Given the description of an element on the screen output the (x, y) to click on. 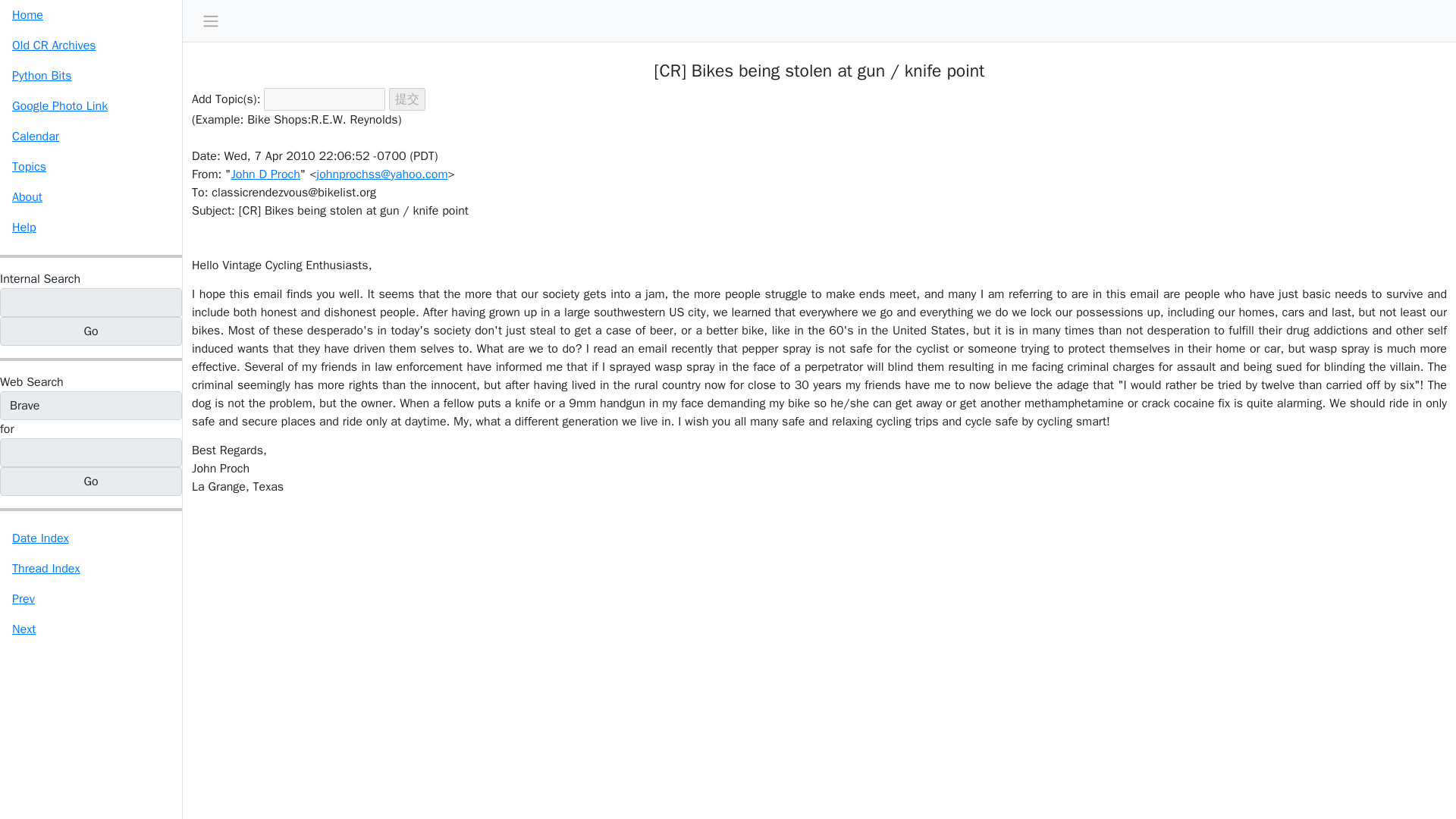
Go (91, 481)
Help (91, 227)
Calendar (91, 136)
Topics (91, 166)
Google Photo Link (91, 105)
Prev (91, 598)
Old CR Archives (91, 45)
Next (91, 629)
Date Index (91, 538)
Python Bits (91, 75)
Enter a word or phrase to search the archive. (40, 279)
About (91, 196)
Go (91, 481)
Go (91, 330)
Go (91, 330)
